Given the description of an element on the screen output the (x, y) to click on. 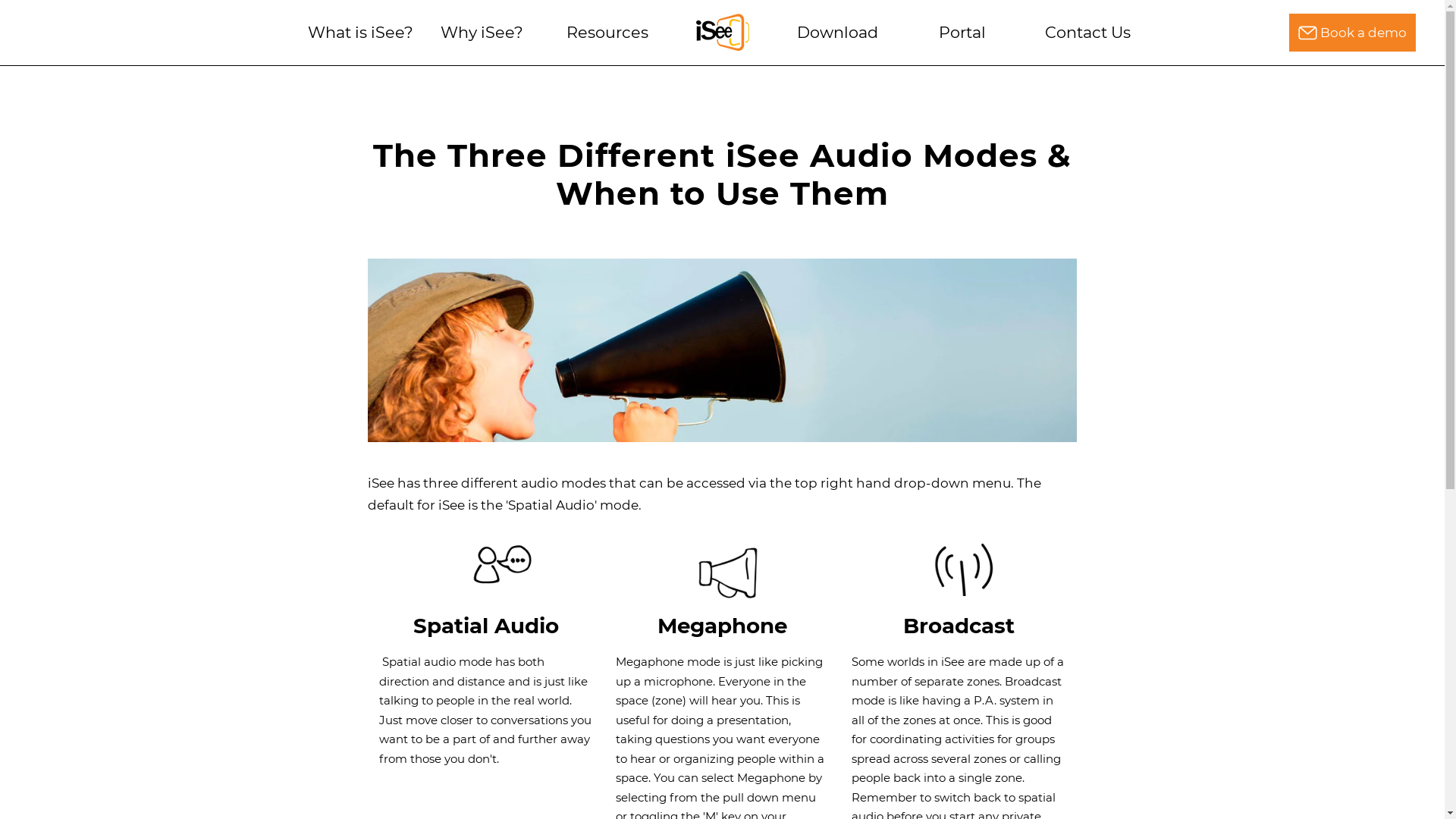
Why iSee? Element type: text (481, 32)
Skip to content Element type: text (0, 60)
What is iSee? Element type: text (360, 32)
Book a demo Element type: text (1352, 32)
Contact Us Element type: text (1087, 32)
Download Element type: text (837, 32)
Portal Element type: text (962, 32)
Resources Element type: text (607, 32)
